Given the description of an element on the screen output the (x, y) to click on. 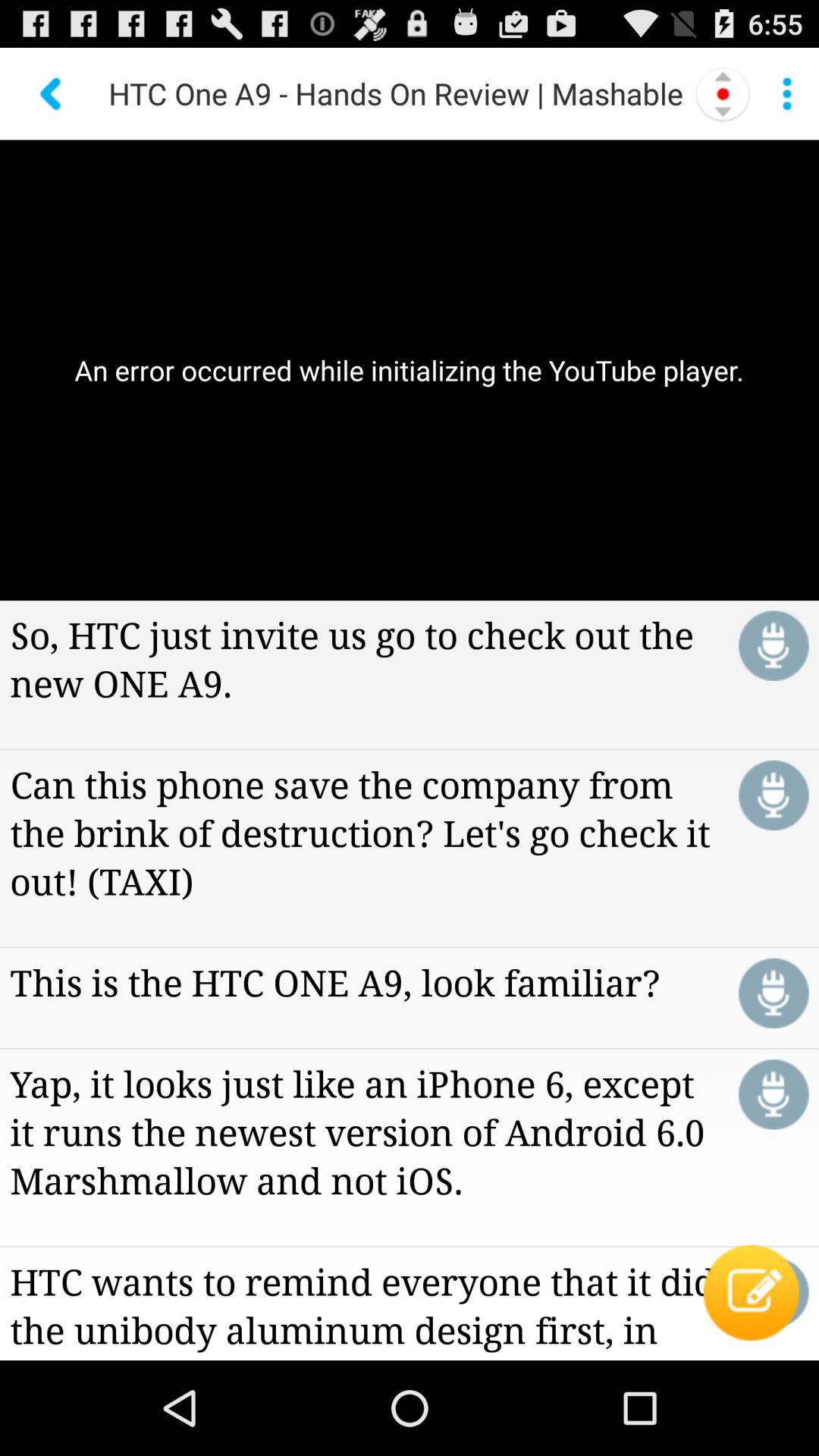
tap the icon to the right of the htc one a9 (723, 93)
